Given the description of an element on the screen output the (x, y) to click on. 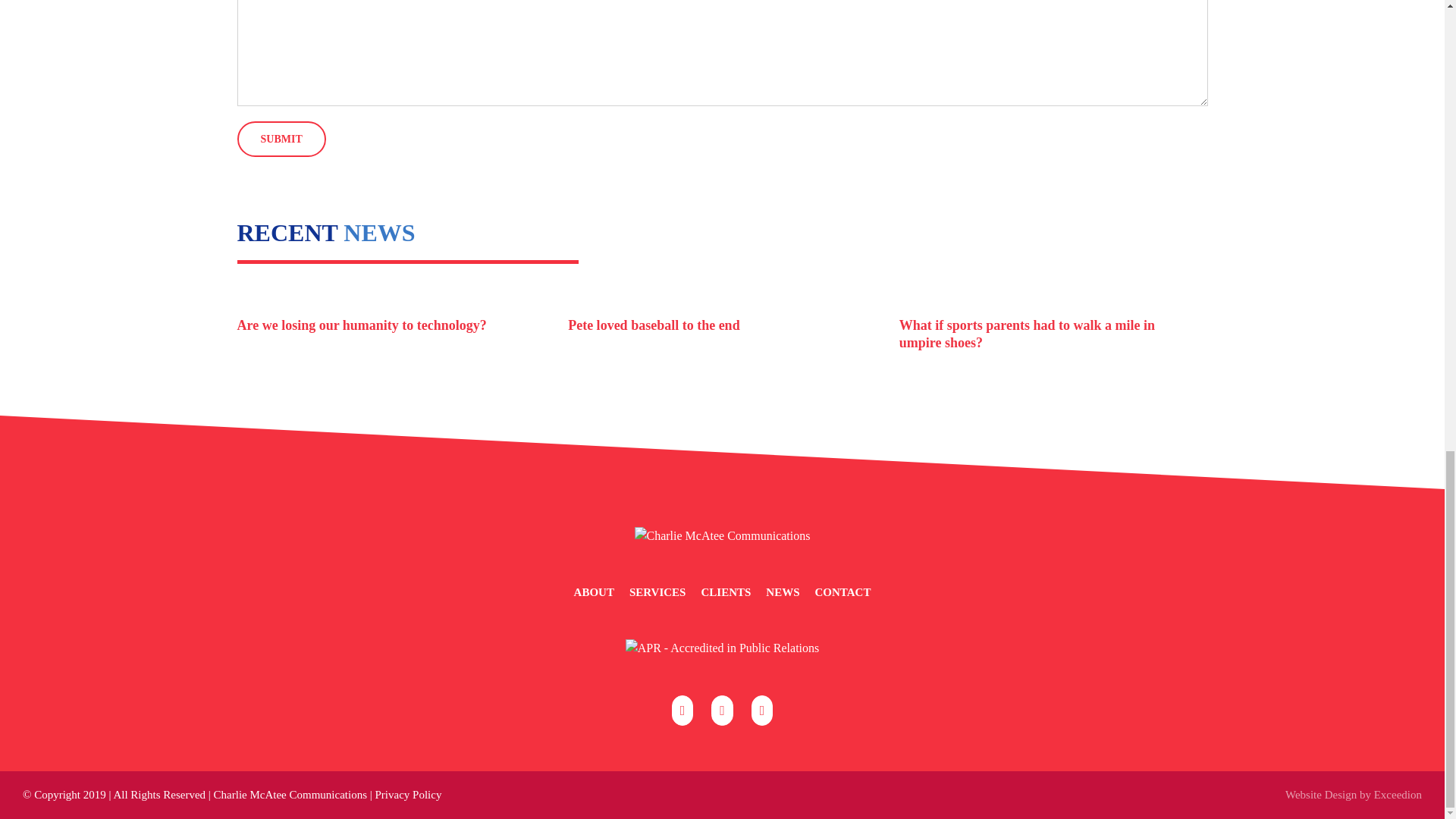
Are we losing our humanity to technology? (360, 324)
CLIENTS (732, 592)
SERVICES (664, 592)
Pete loved baseball to the end (653, 324)
ABOUT (600, 592)
Submit (279, 139)
NEWS (789, 592)
Submit (279, 139)
What if sports parents had to walk a mile in umpire shoes? (1026, 333)
CONTACT (841, 592)
